Given the description of an element on the screen output the (x, y) to click on. 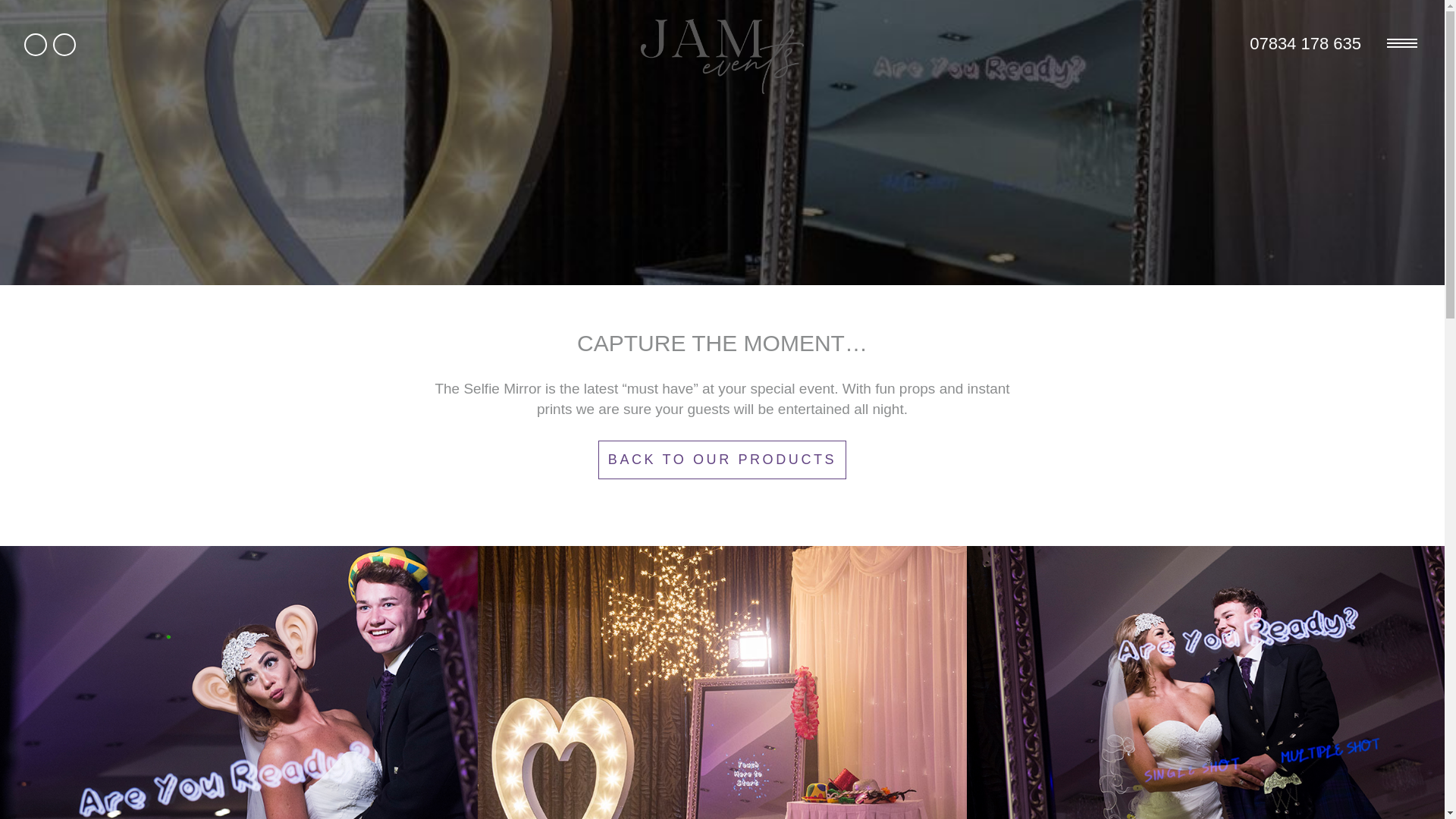
Menu (1401, 43)
Jam Events (721, 56)
BACK TO OUR PRODUCTS (721, 459)
